Given the description of an element on the screen output the (x, y) to click on. 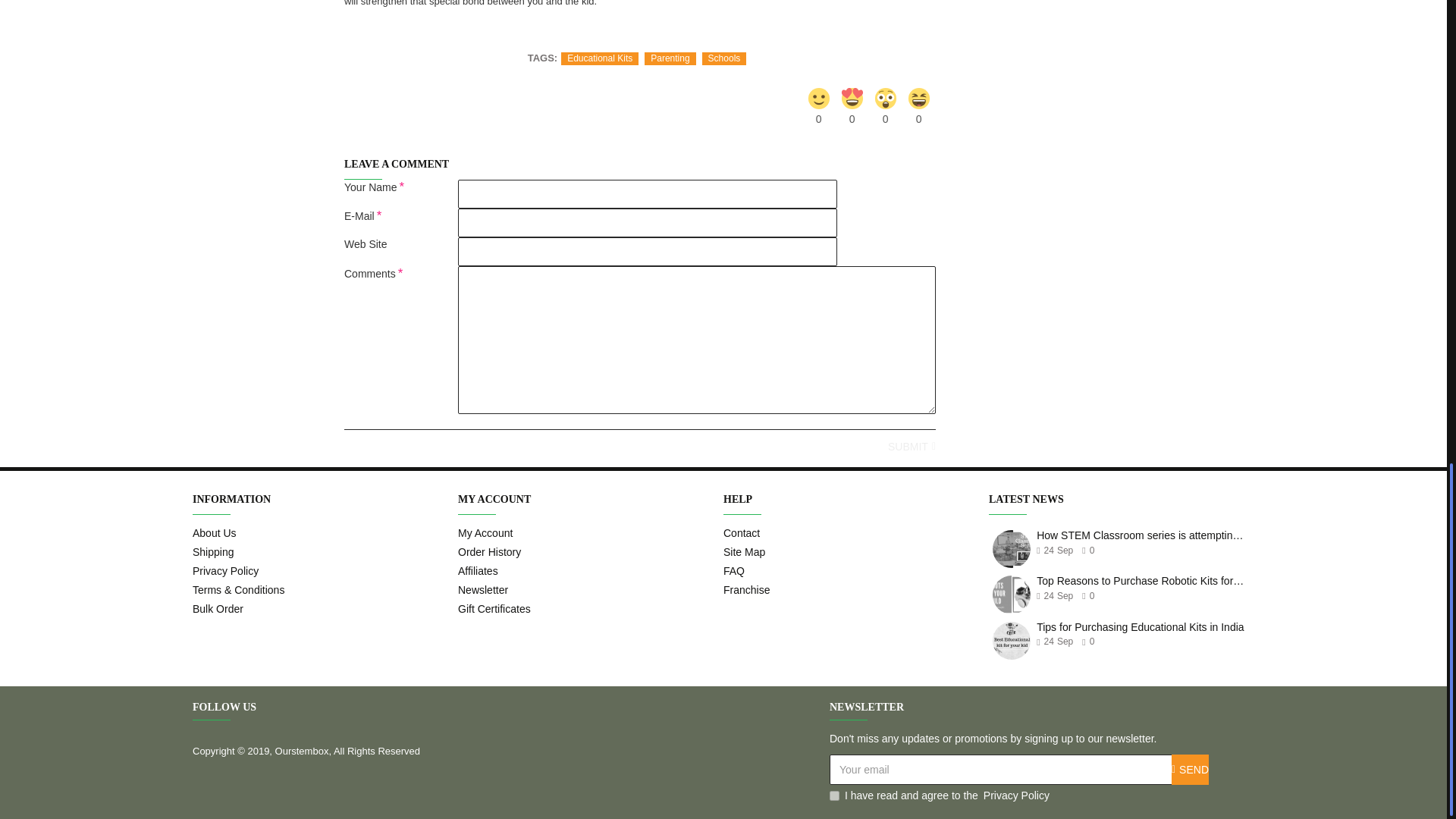
Top Reasons to Purchase Robotic Kits for Your Kids (1011, 594)
Tips for Purchasing Educational Kits in India (1011, 640)
1 (834, 795)
